Given the description of an element on the screen output the (x, y) to click on. 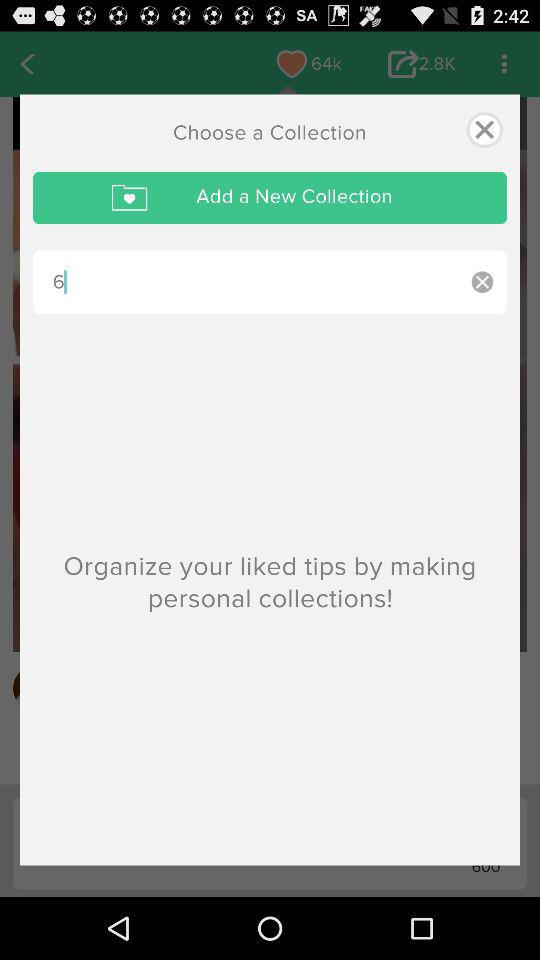
launch the item above add a new icon (484, 129)
